Given the description of an element on the screen output the (x, y) to click on. 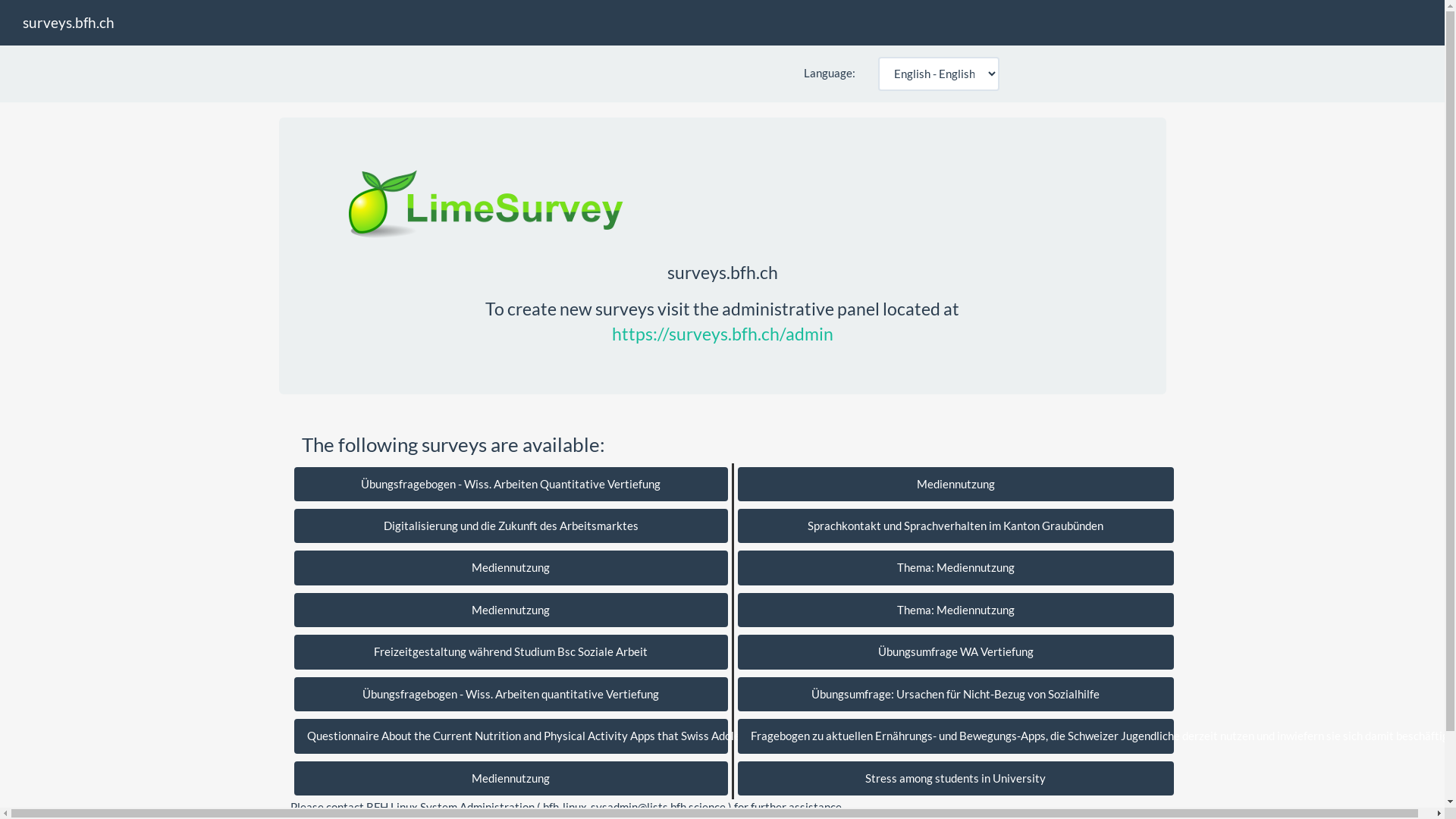
Digitalisierung und die Zukunft des Arbeitsmarktes Element type: text (511, 525)
Mediennutzung Element type: text (955, 484)
Thema: Mediennutzung Element type: text (955, 610)
Stress among students in University Element type: text (955, 778)
changelang Element type: text (58, 10)
Mediennutzung Element type: text (511, 567)
Mediennutzung Element type: text (511, 778)
Mediennutzung Element type: text (511, 610)
https://surveys.bfh.ch/admin Element type: text (721, 333)
Thema: Mediennutzung Element type: text (955, 567)
